Given the description of an element on the screen output the (x, y) to click on. 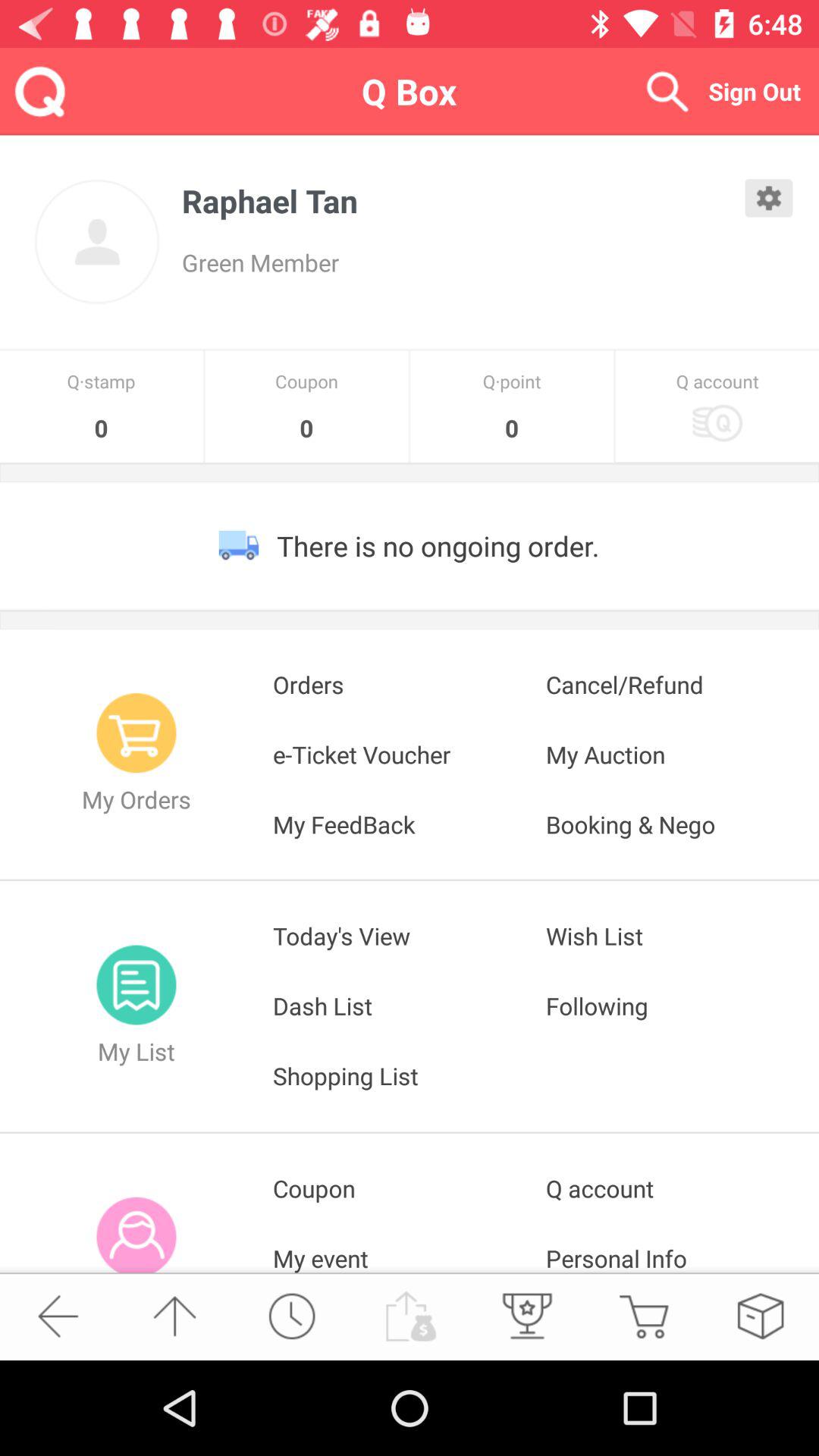
shopping cart (642, 1316)
